Given the description of an element on the screen output the (x, y) to click on. 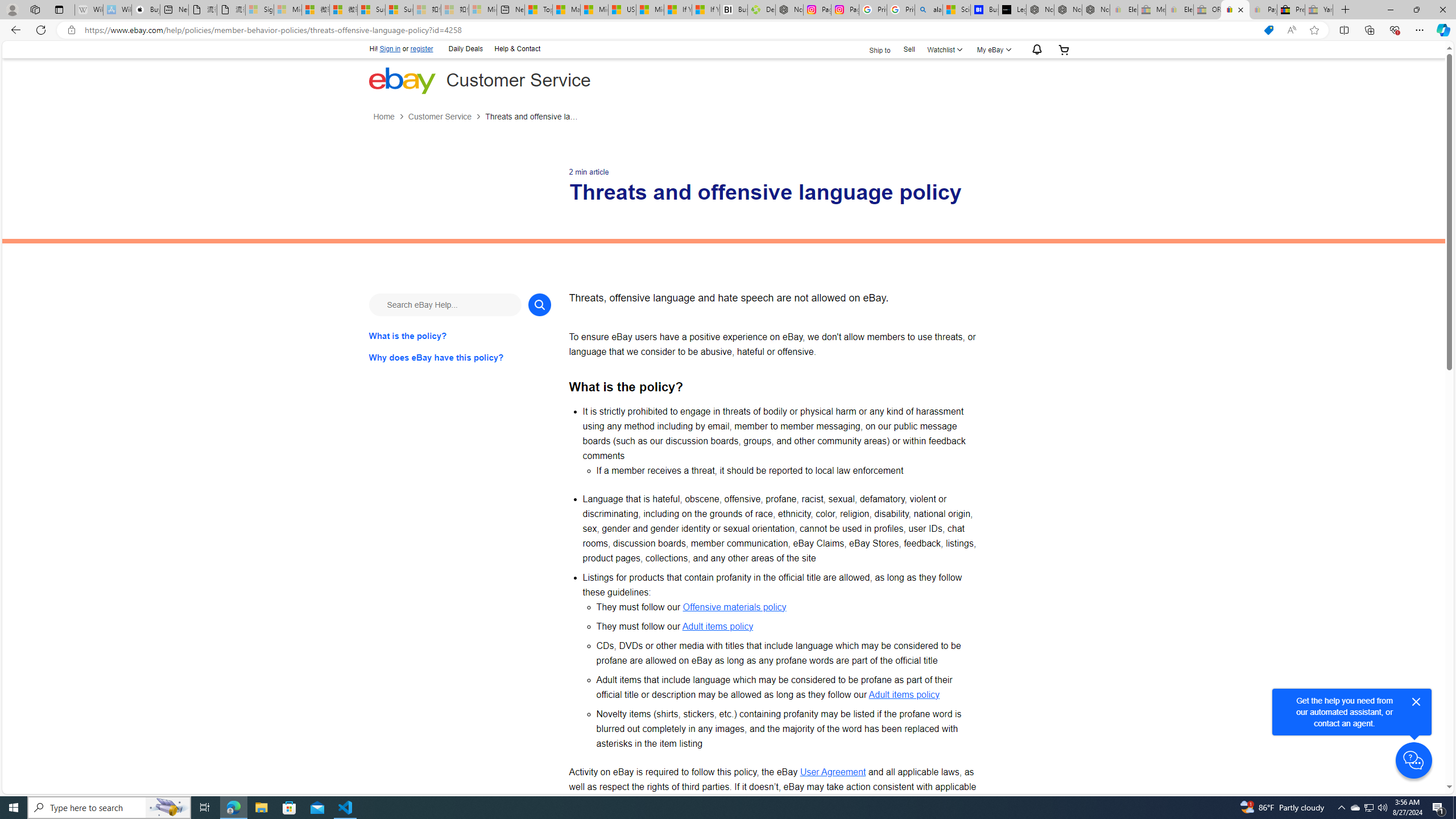
eBay Home (401, 80)
Your shopping cart (1064, 49)
Why does eBay have this policy? (459, 356)
WatchlistExpand Watch List (943, 49)
Threats and offensive language policy | eBay (1235, 9)
Help & Contact (516, 48)
